Given the description of an element on the screen output the (x, y) to click on. 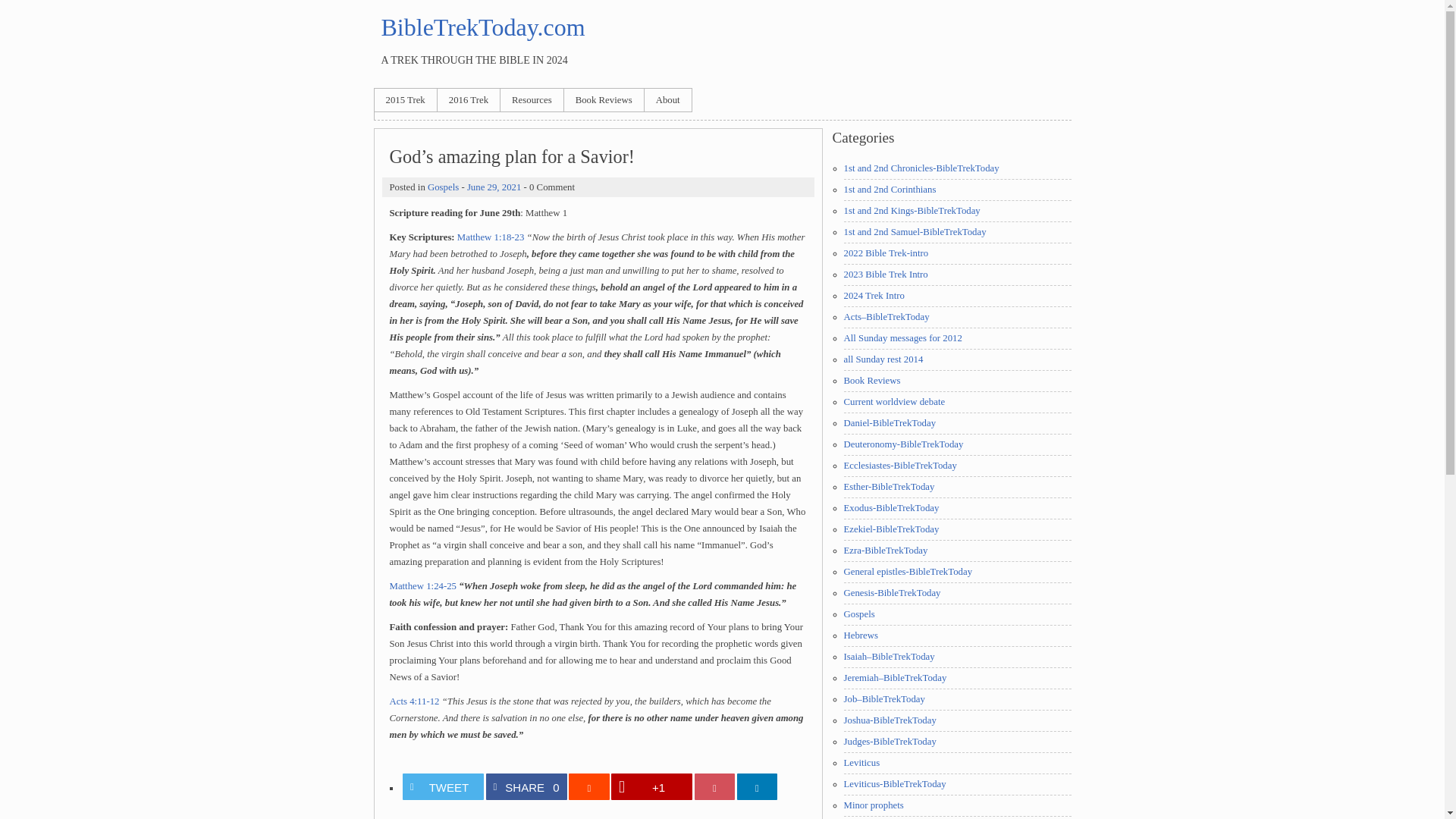
Resources (531, 99)
2015 Trek (405, 99)
Save to read later on Pocket (714, 786)
2024 Trek Intro (873, 295)
2022 Bible Trek-intro (885, 253)
Matthew 1:18-23 (490, 236)
BibleTrekToday.com (482, 26)
all Sunday rest 2014 (525, 786)
Deuteronomy-BibleTrekToday (883, 358)
June 29, 2021 (902, 443)
1st and 2nd Corinthians (494, 186)
About (889, 189)
Book Reviews (668, 99)
Submit to Reddit (871, 380)
